Given the description of an element on the screen output the (x, y) to click on. 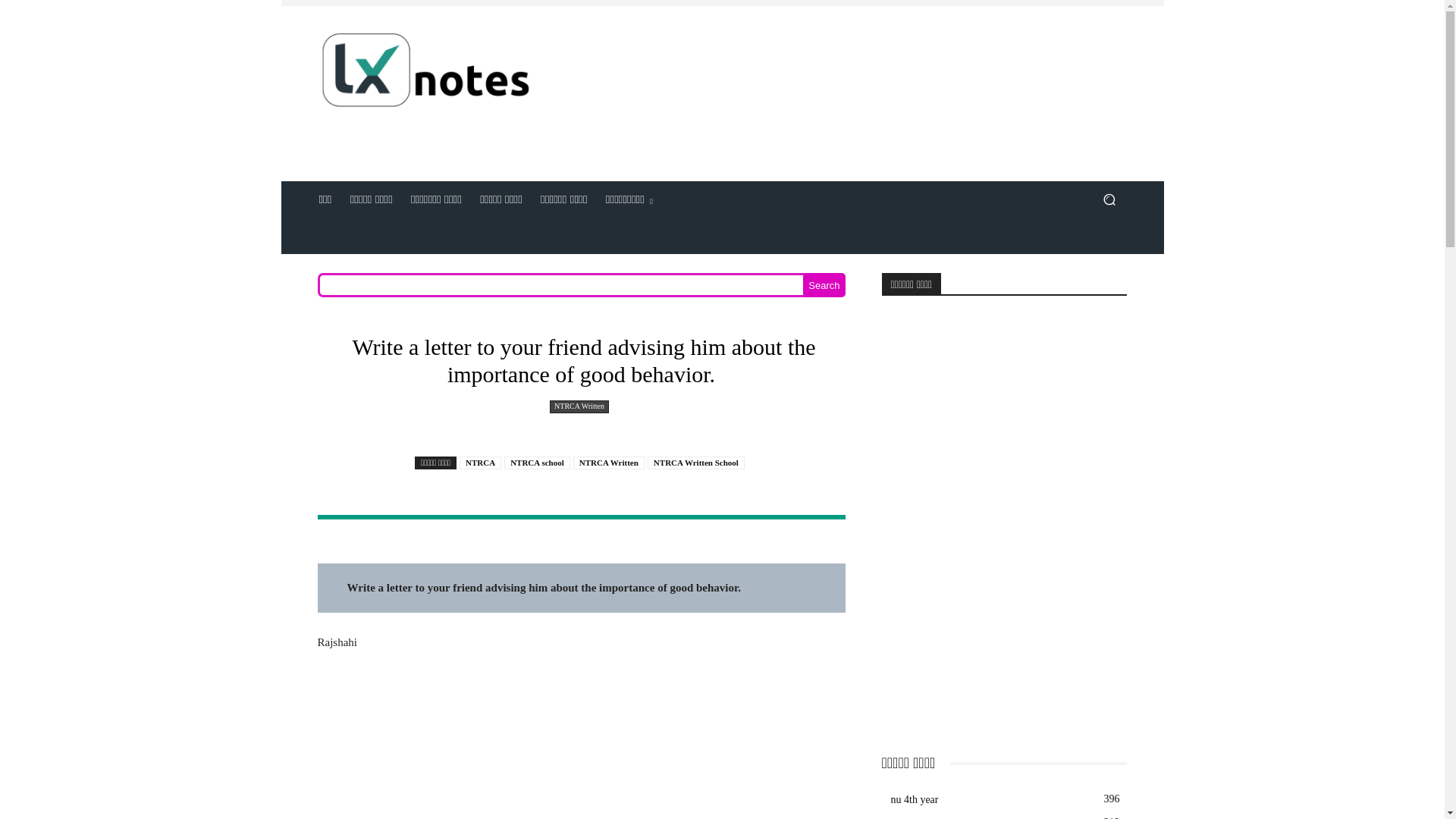
LX Notes (425, 75)
